Given the description of an element on the screen output the (x, y) to click on. 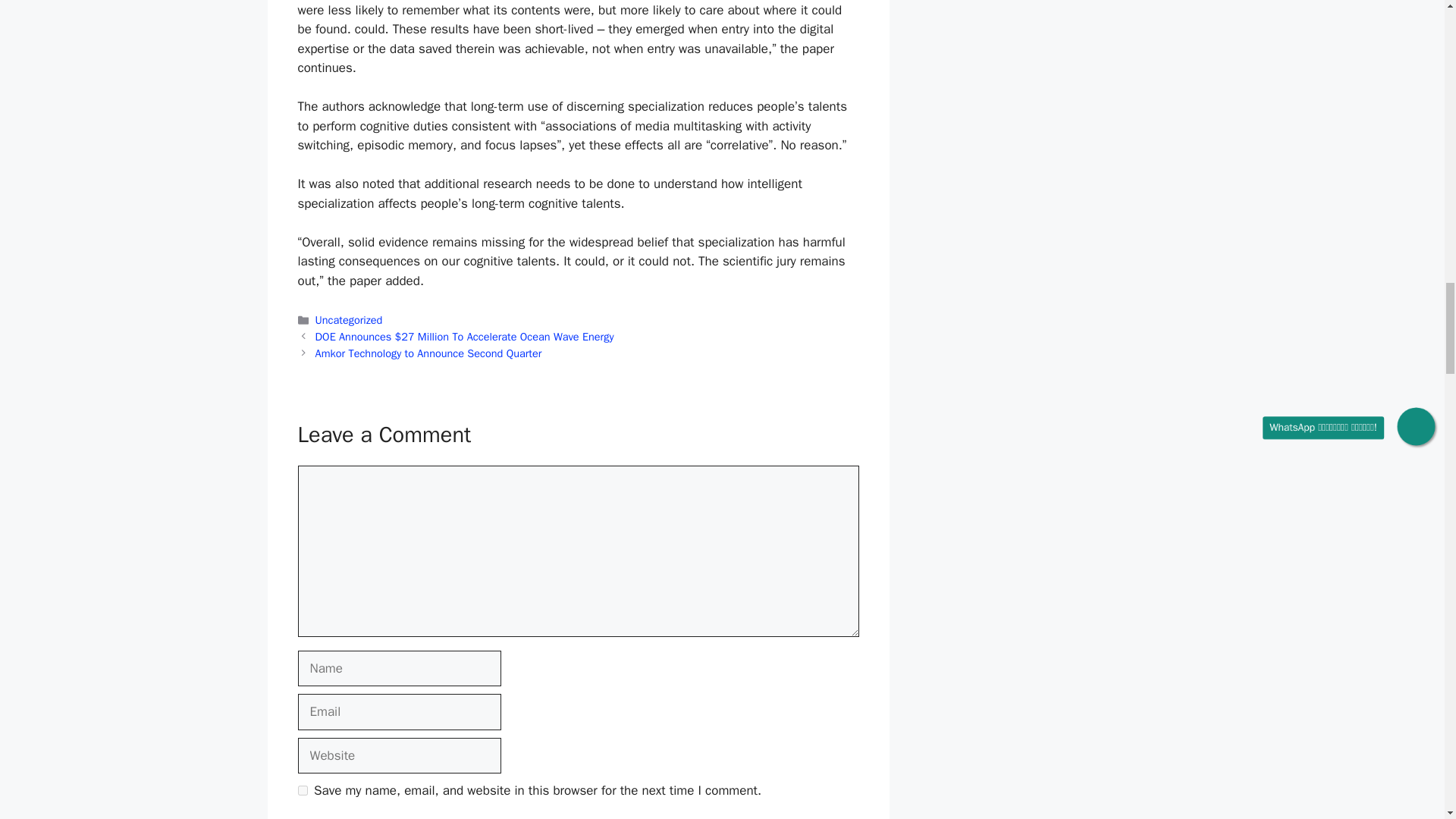
Amkor Technology to Announce Second Quarter (428, 353)
Uncategorized (348, 319)
yes (302, 790)
